Given the description of an element on the screen output the (x, y) to click on. 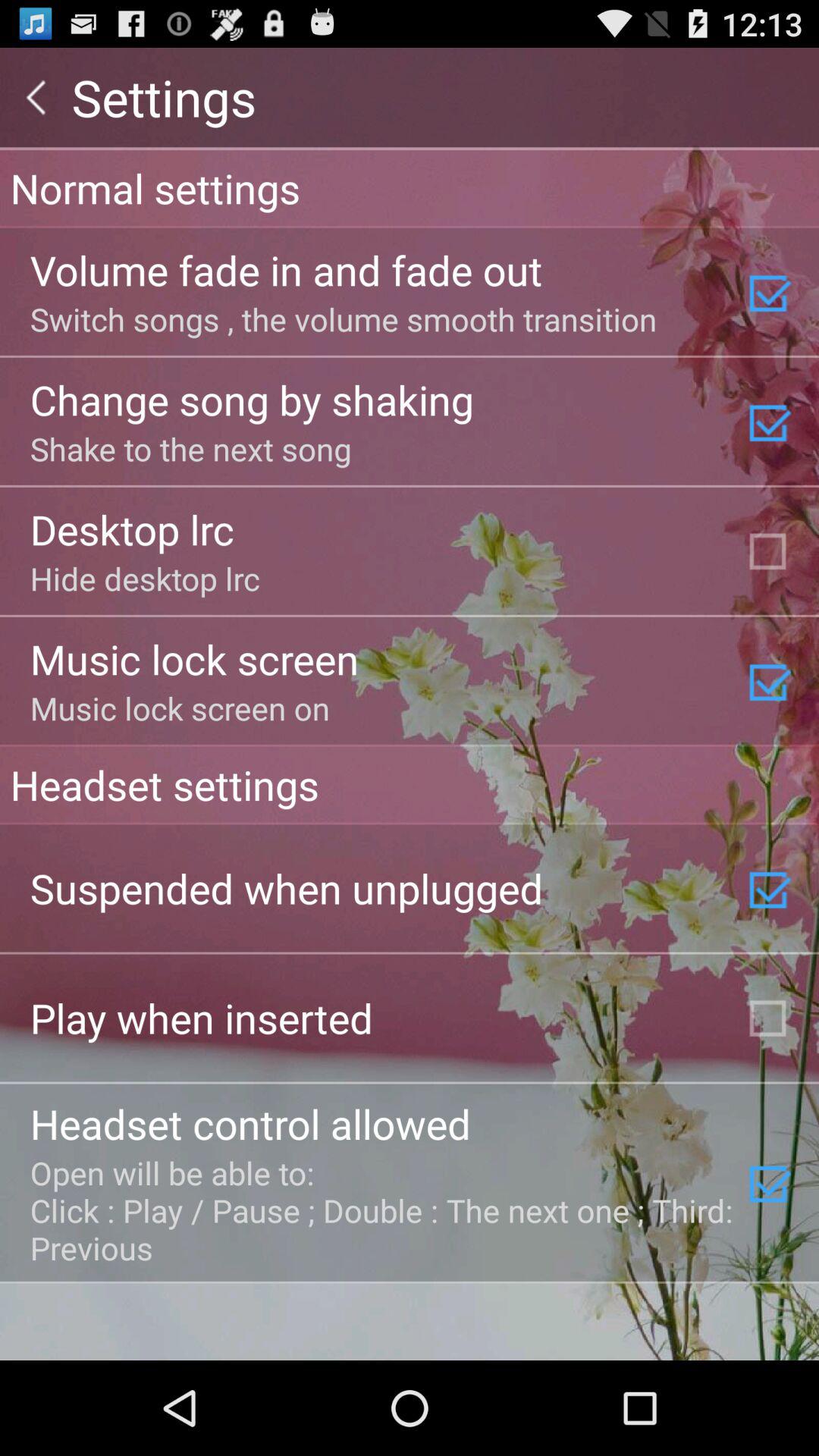
select app below headset control allowed app (383, 1210)
